Given the description of an element on the screen output the (x, y) to click on. 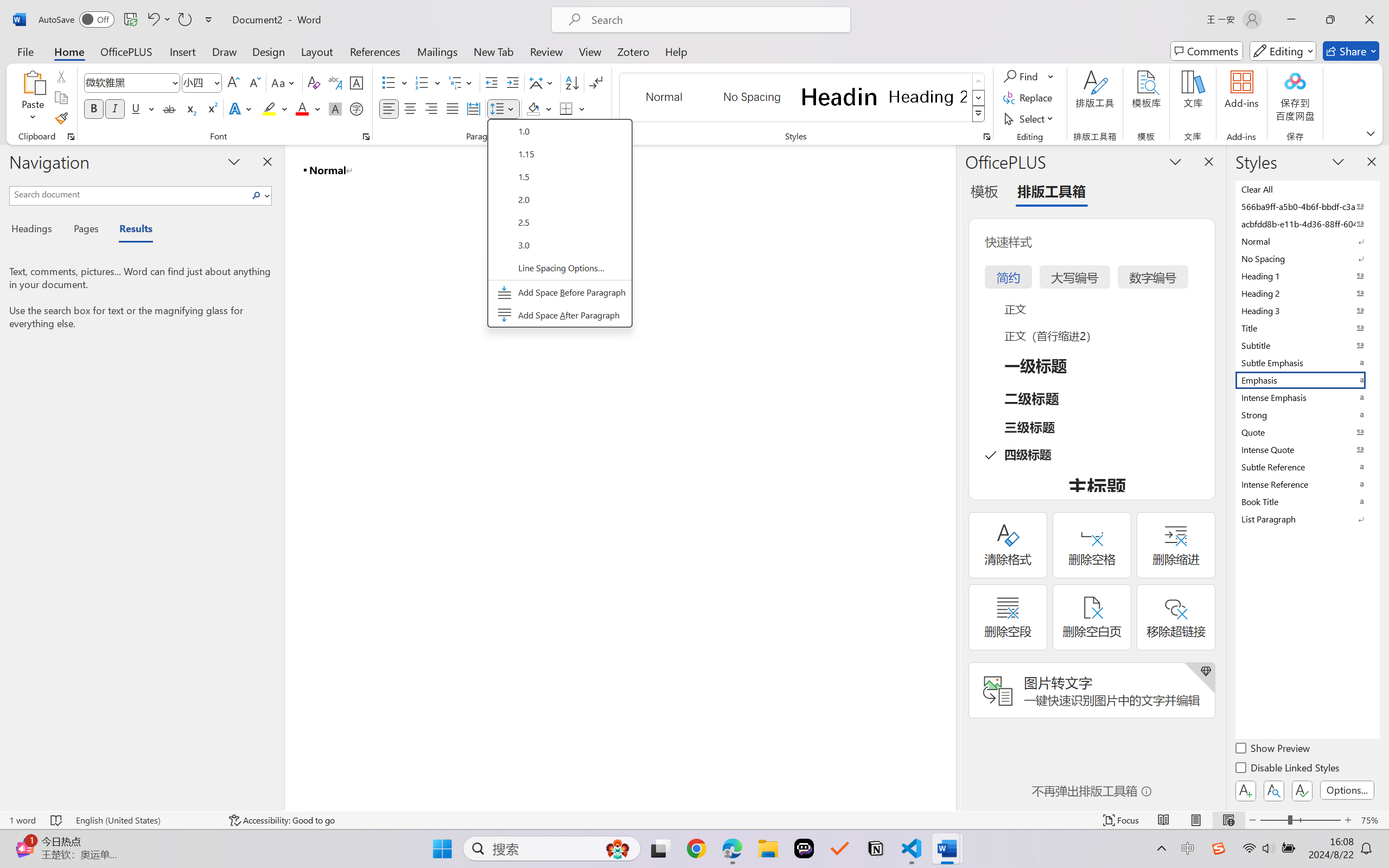
Disable Linked Styles (1287, 769)
Subscript (190, 108)
No Spacing (1306, 258)
Text Highlight Color (274, 108)
Undo Style (152, 19)
Spelling and Grammar Check No Errors (56, 819)
Language English (United States) (144, 819)
Distributed (473, 108)
Web Layout (1228, 819)
